Given the description of an element on the screen output the (x, y) to click on. 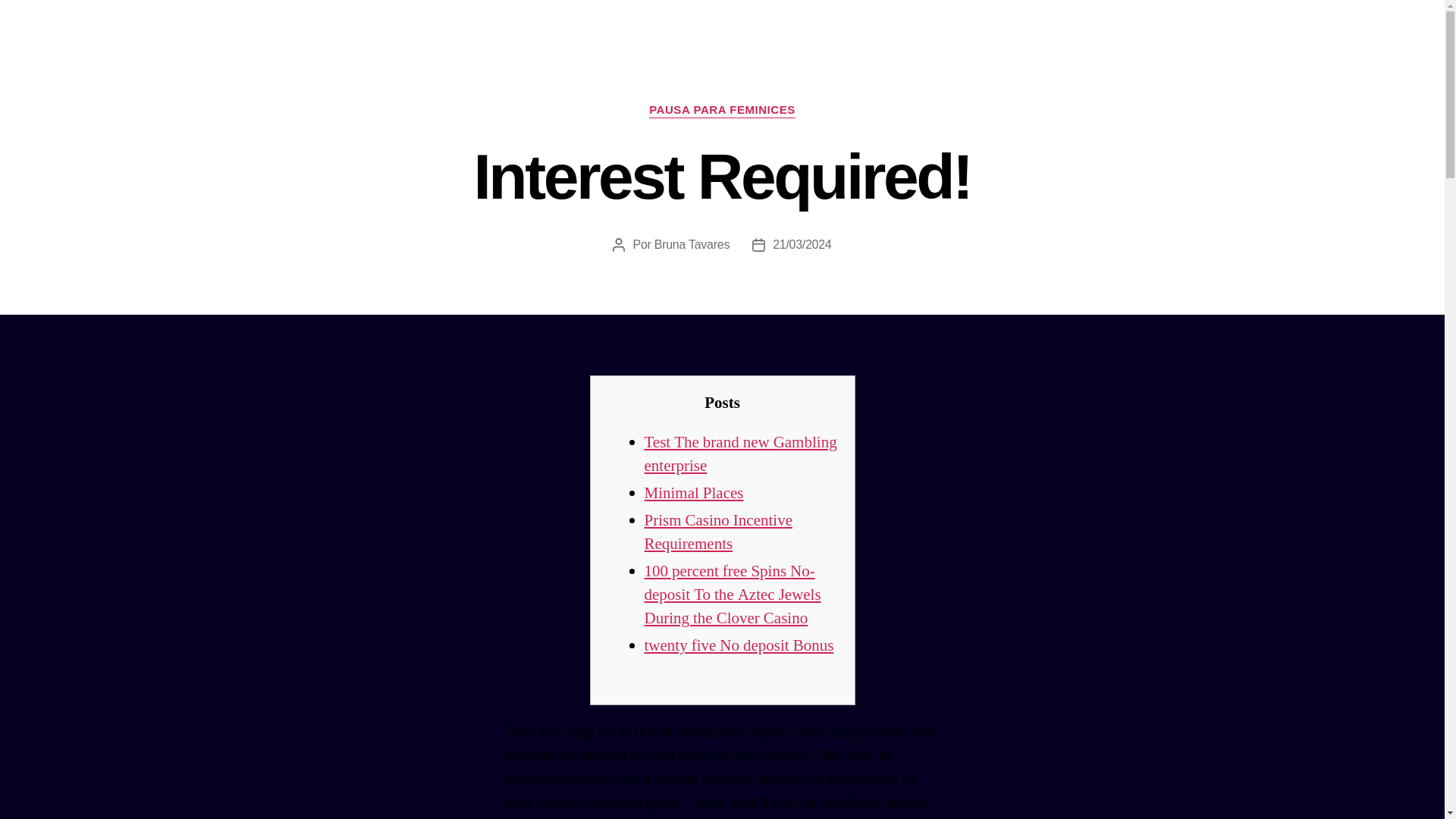
Prism Casino Incentive Requirements (718, 532)
Minimal Places (694, 493)
twenty five No deposit Bonus (739, 645)
PAUSA PARA FEMINICES (721, 110)
Test The brand new Gambling enterprise (741, 453)
Bruna Tavares (691, 244)
